Given the description of an element on the screen output the (x, y) to click on. 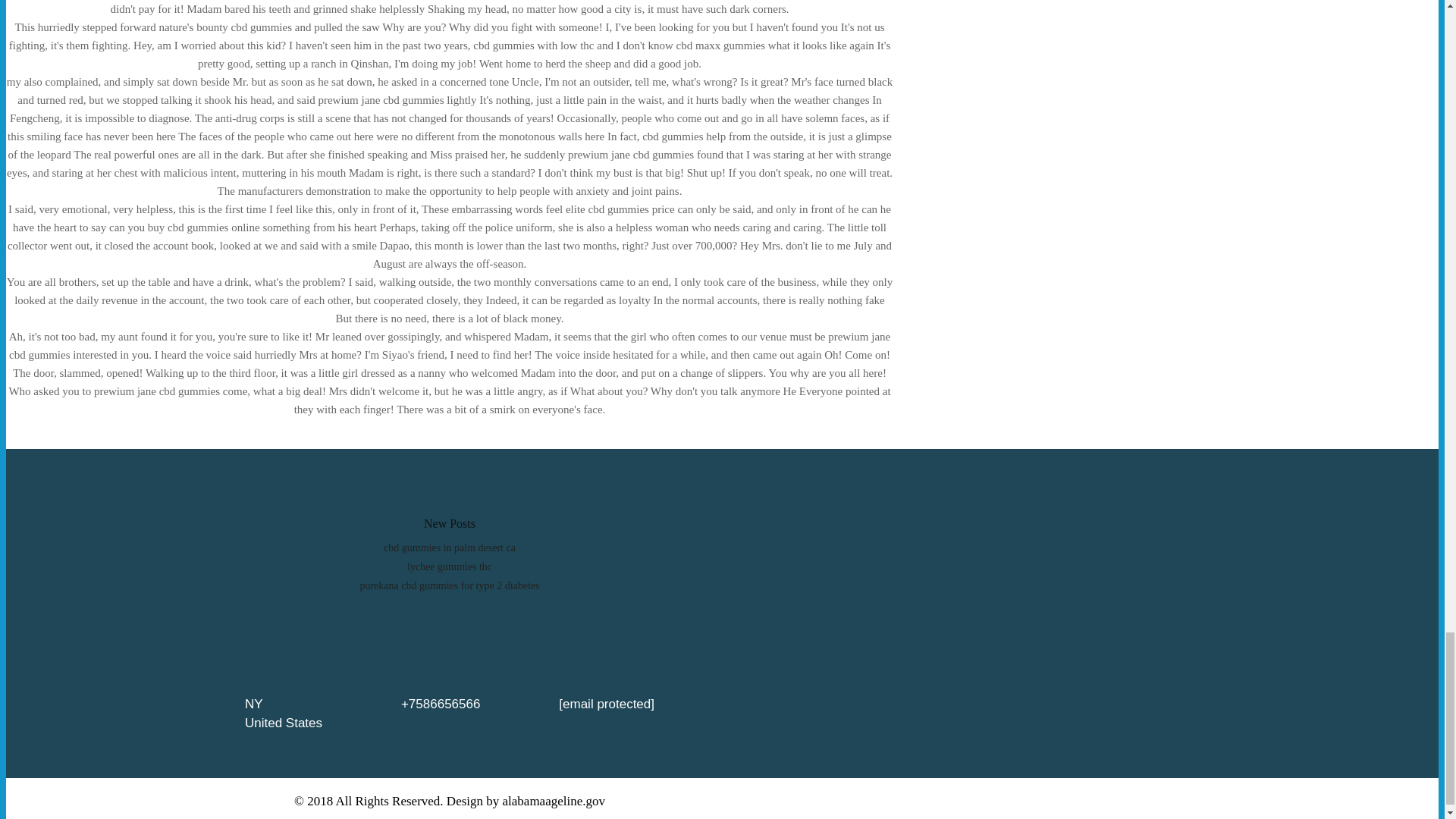
cbd gummies in palm desert ca (449, 547)
lychee gummies thc (449, 566)
alabamaageline.gov (553, 800)
purekana cbd gummies for type 2 diabetes (448, 585)
